Given the description of an element on the screen output the (x, y) to click on. 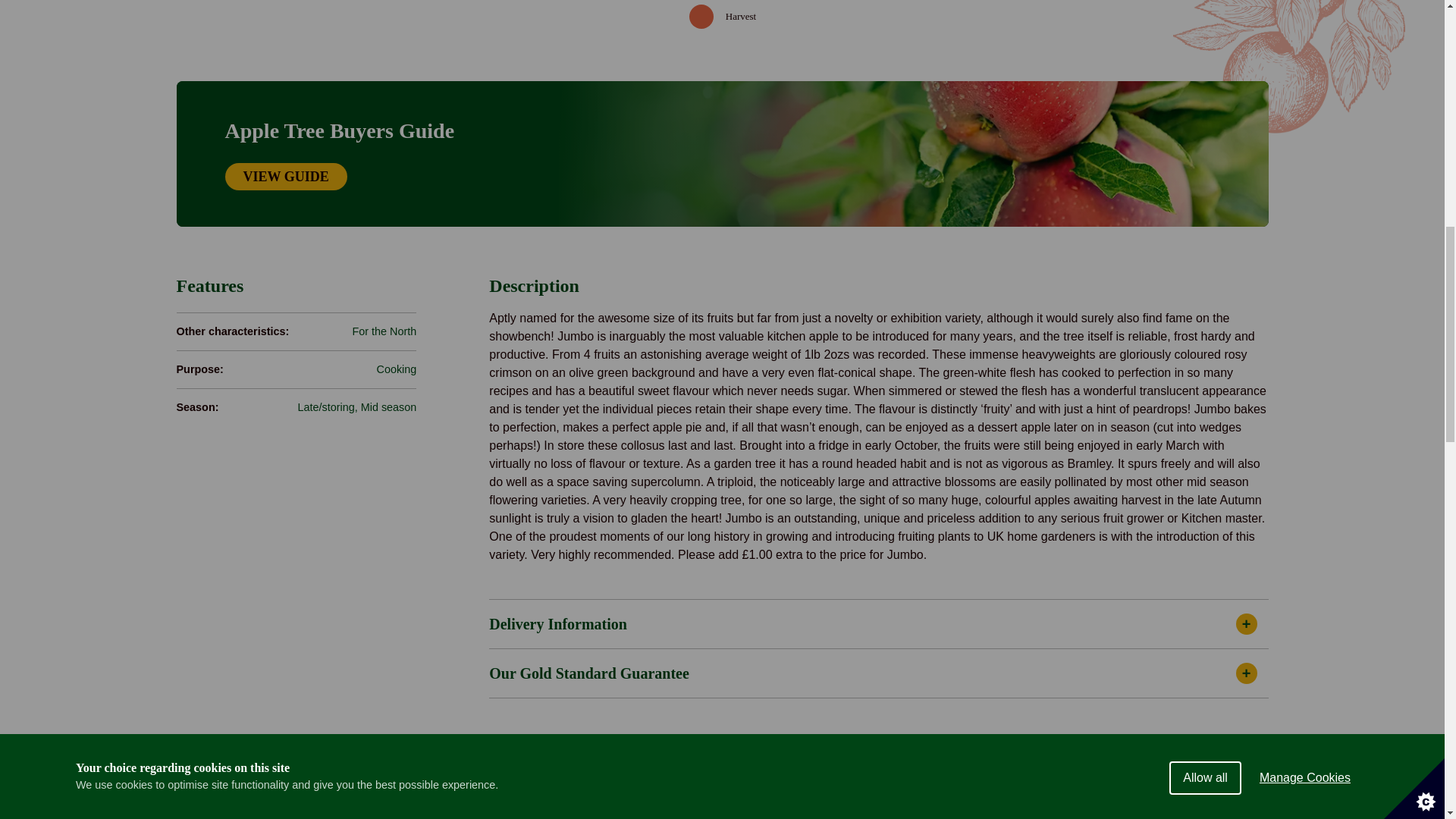
Table showing the flowering and harvesting months (722, 16)
Allow all (1205, 17)
Manage Cookies (1304, 8)
